Given the description of an element on the screen output the (x, y) to click on. 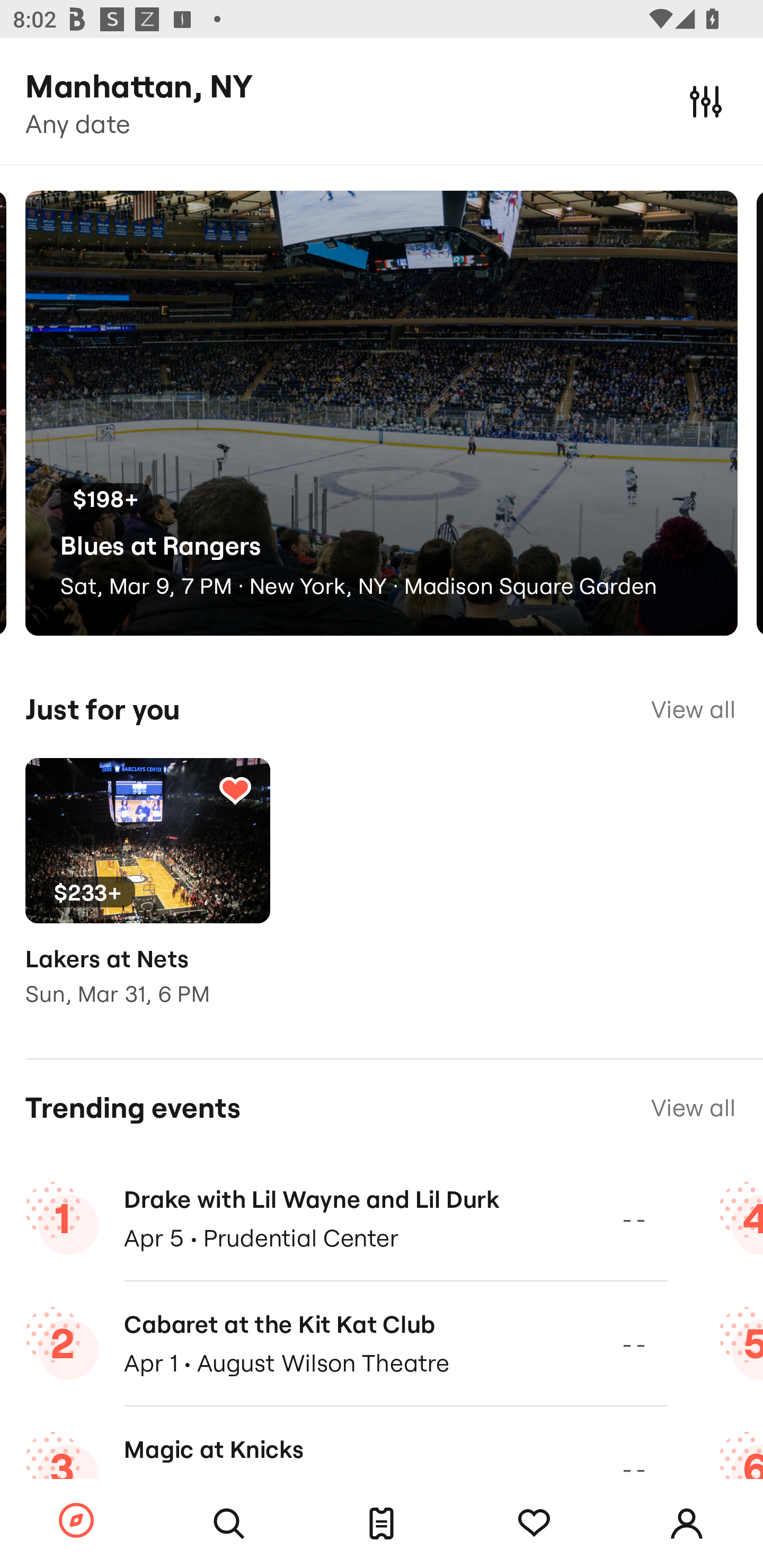
Close (705, 100)
View all (693, 709)
Tracking $233+ Lakers at Nets Sun, Mar 31, 6 PM (147, 895)
Tracking (234, 790)
View all (693, 1108)
Browse (76, 1521)
Search (228, 1523)
Tickets (381, 1523)
Tracking (533, 1523)
Account (686, 1523)
